Given the description of an element on the screen output the (x, y) to click on. 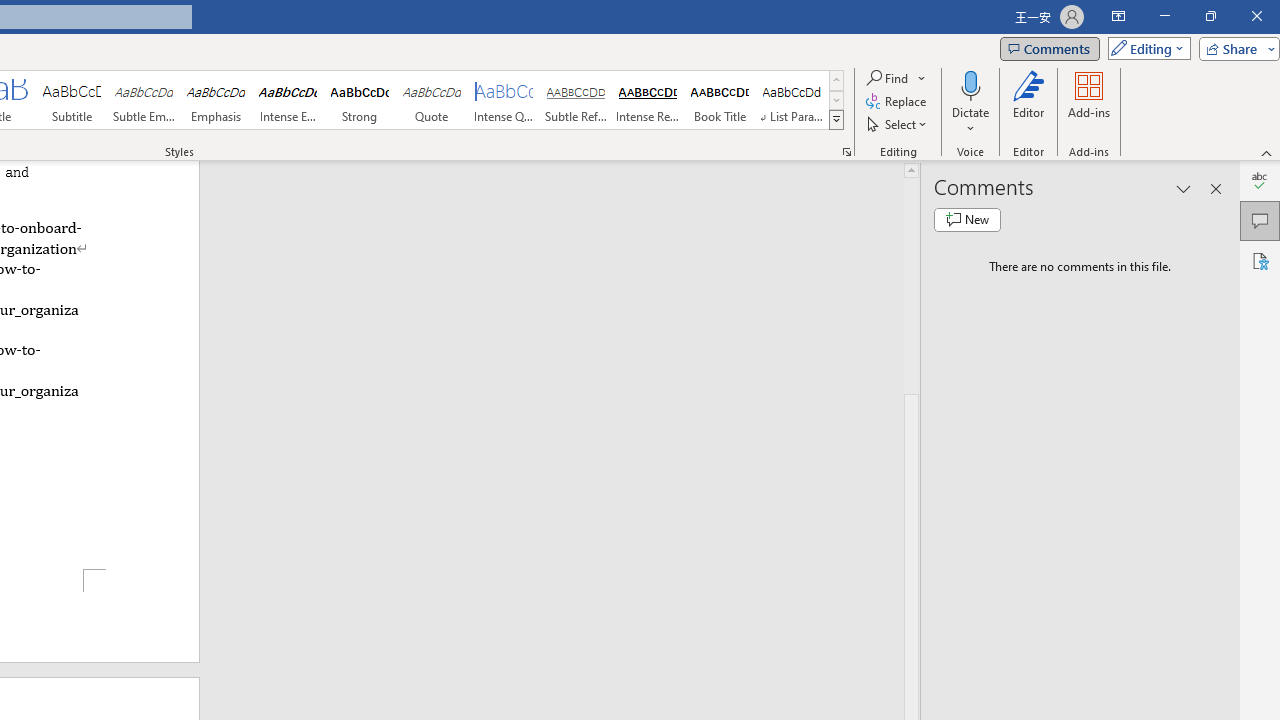
Intense Reference (647, 100)
Subtitle (71, 100)
